Given the description of an element on the screen output the (x, y) to click on. 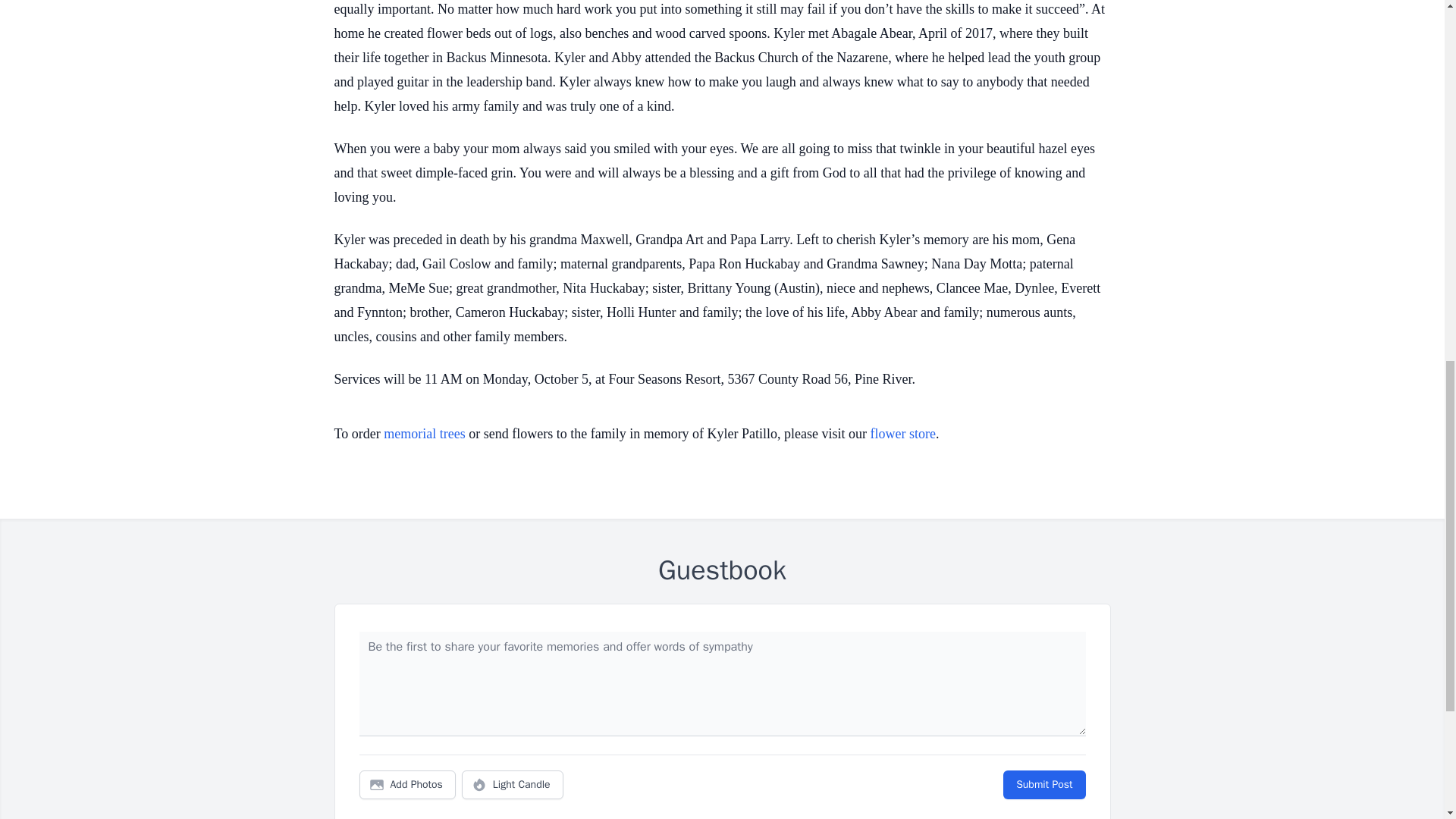
Light Candle (512, 784)
memorial trees (424, 433)
Add Photos (407, 784)
Submit Post (1043, 784)
flower store (903, 433)
